Given the description of an element on the screen output the (x, y) to click on. 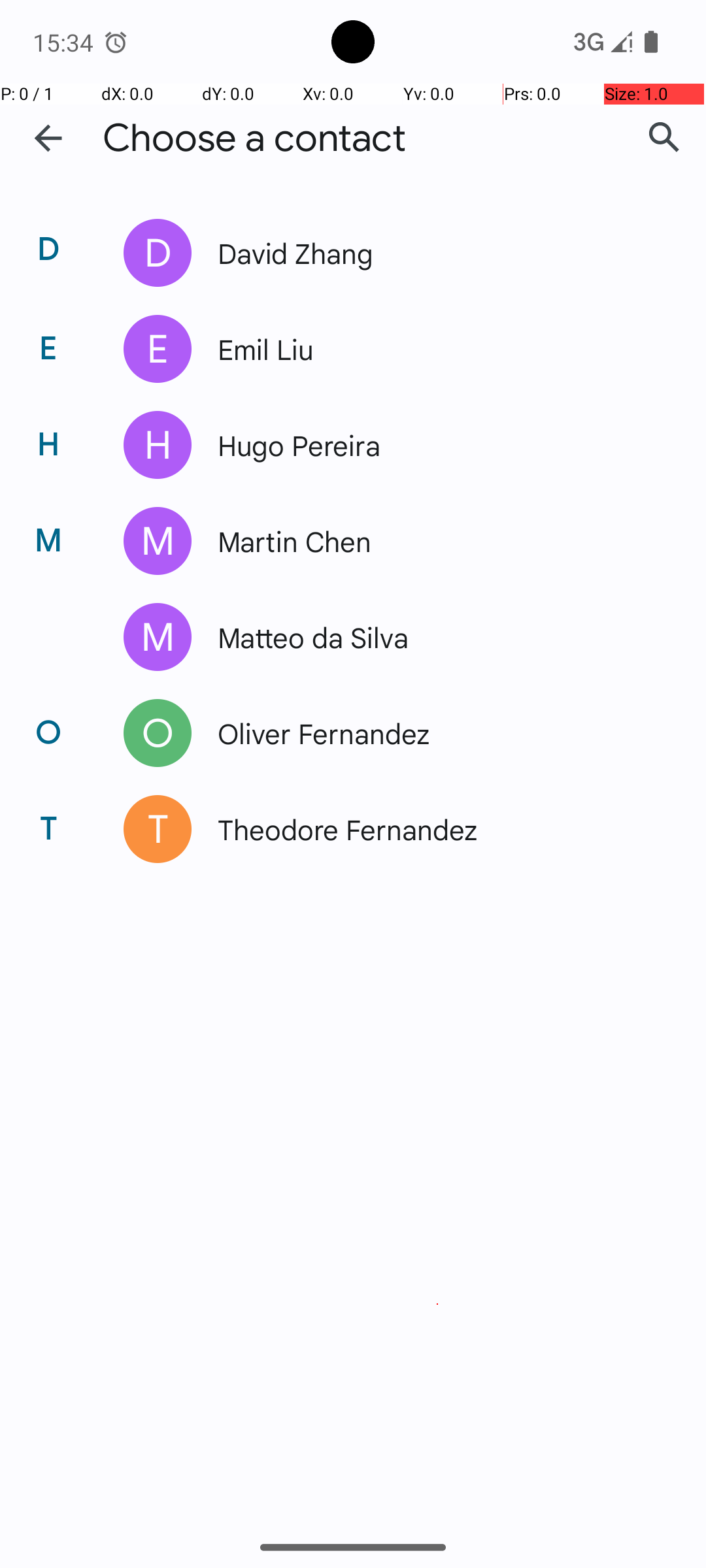
Choose a contact Element type: android.widget.TextView (253, 138)
Search contacts Element type: android.widget.Button (664, 137)
David Zhang Element type: android.widget.TextView (434, 252)
Emil Liu Element type: android.widget.TextView (434, 348)
Hugo Pereira Element type: android.widget.TextView (434, 444)
Martin Chen Element type: android.widget.TextView (434, 540)
Matteo da Silva Element type: android.widget.TextView (434, 636)
Oliver Fernandez Element type: android.widget.TextView (434, 732)
Theodore Fernandez Element type: android.widget.TextView (434, 828)
